Given the description of an element on the screen output the (x, y) to click on. 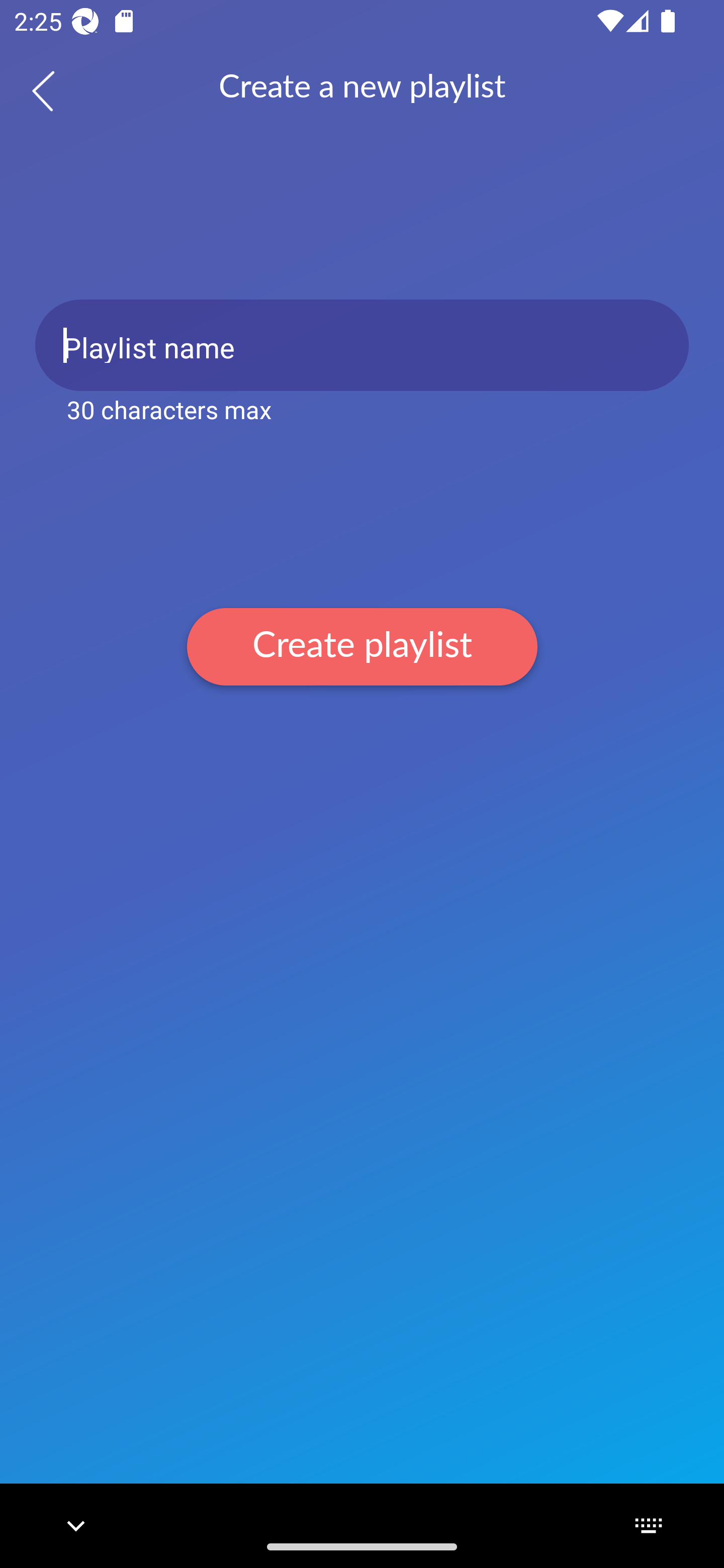
Playlist name (361, 344)
Create playlist (362, 646)
